Given the description of an element on the screen output the (x, y) to click on. 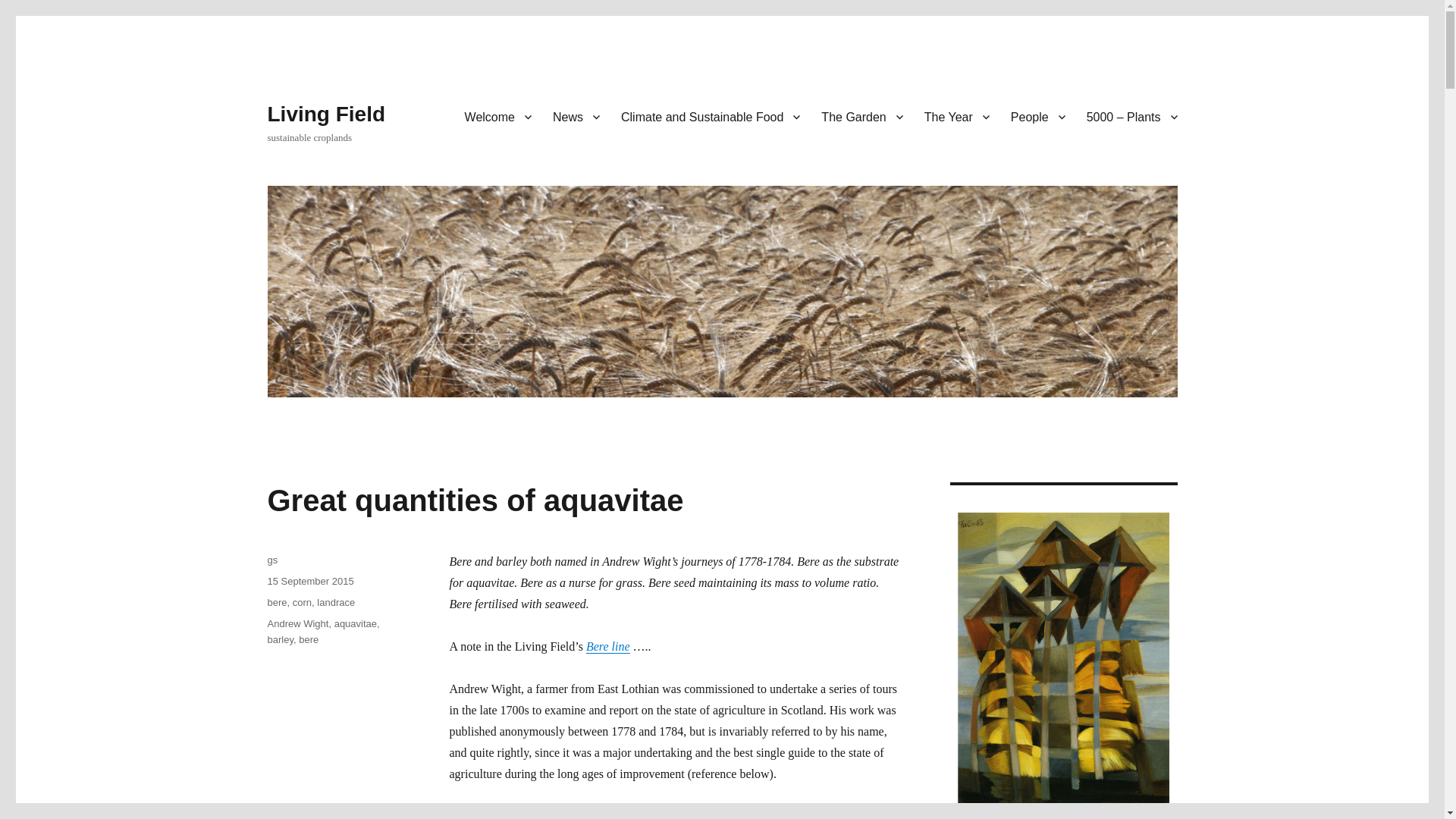
The Year (957, 116)
The Garden (861, 116)
Welcome (497, 116)
Climate and Sustainable Food (710, 116)
News (575, 116)
Living Field (325, 114)
